Given the description of an element on the screen output the (x, y) to click on. 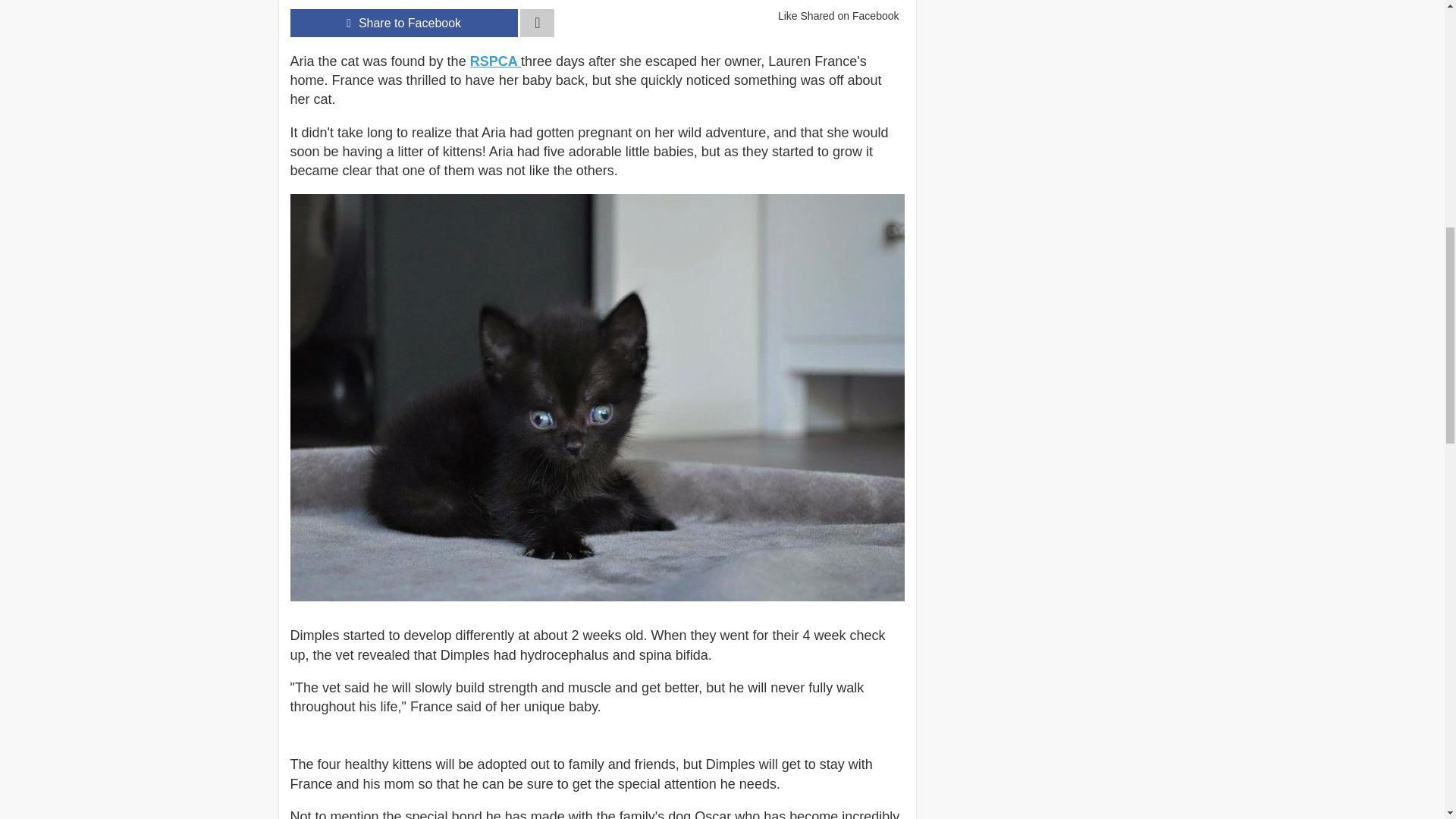
facebook (402, 22)
Toggle navigation (536, 22)
RSPCA (495, 61)
